Given the description of an element on the screen output the (x, y) to click on. 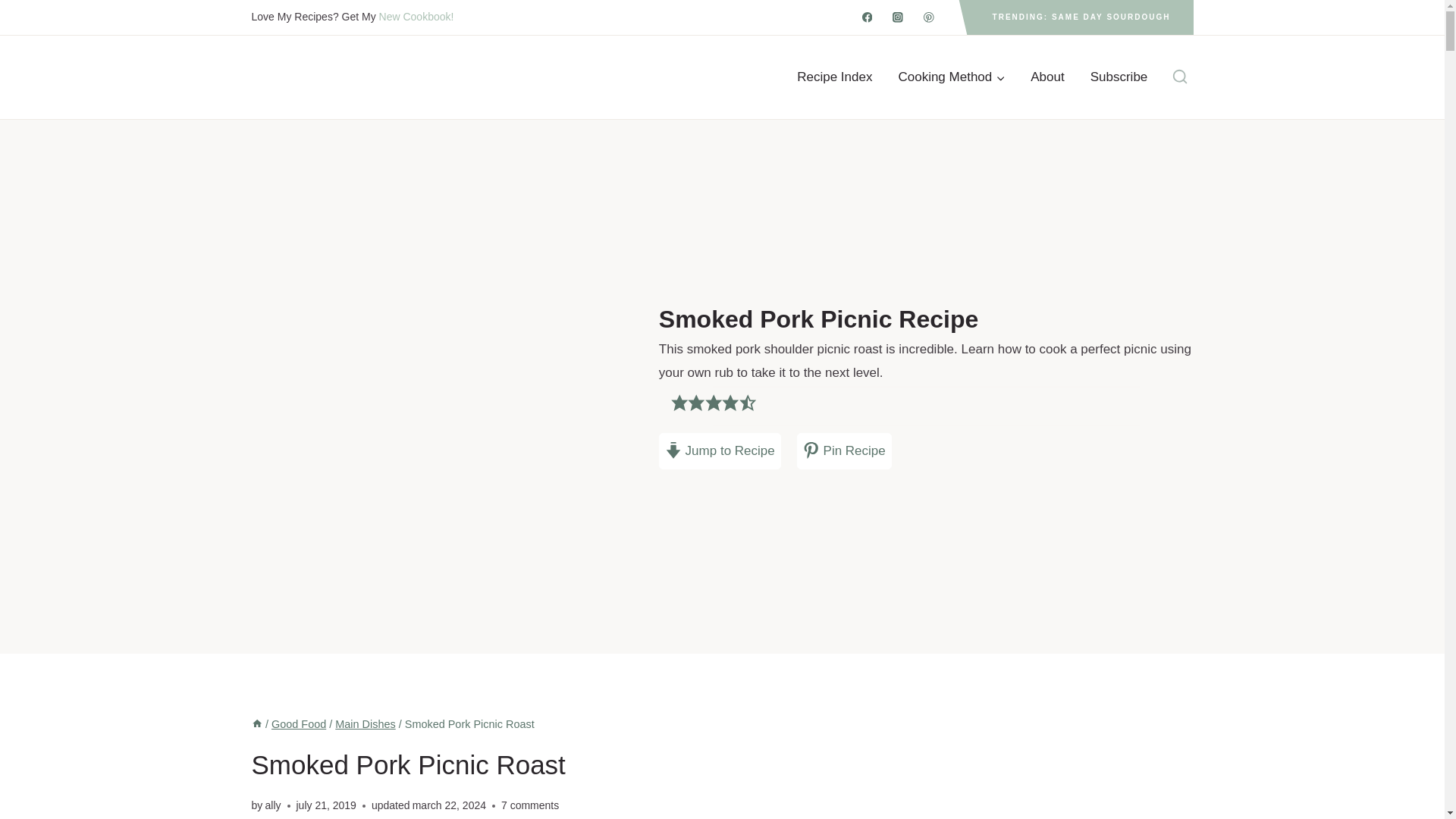
Good Food (298, 724)
About (1047, 77)
Pin Recipe (843, 450)
Main Dishes (364, 724)
New Cookbook! (416, 16)
Recipe Index (834, 77)
TRENDING: SAME DAY SOURDOUGH (1081, 17)
7 comments (529, 805)
Jump to Recipe (719, 450)
ally (272, 805)
